Given the description of an element on the screen output the (x, y) to click on. 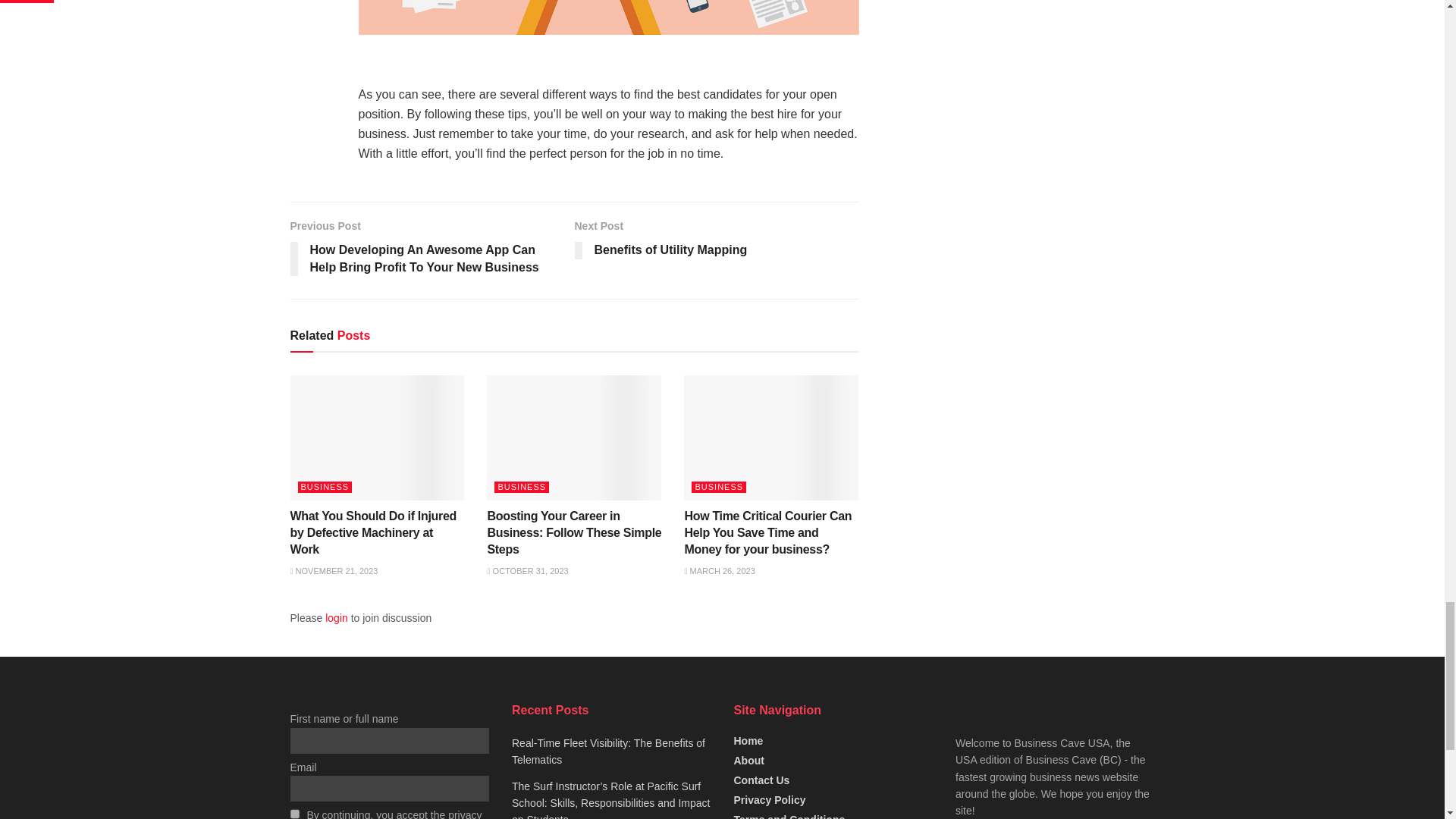
on (293, 814)
